Given the description of an element on the screen output the (x, y) to click on. 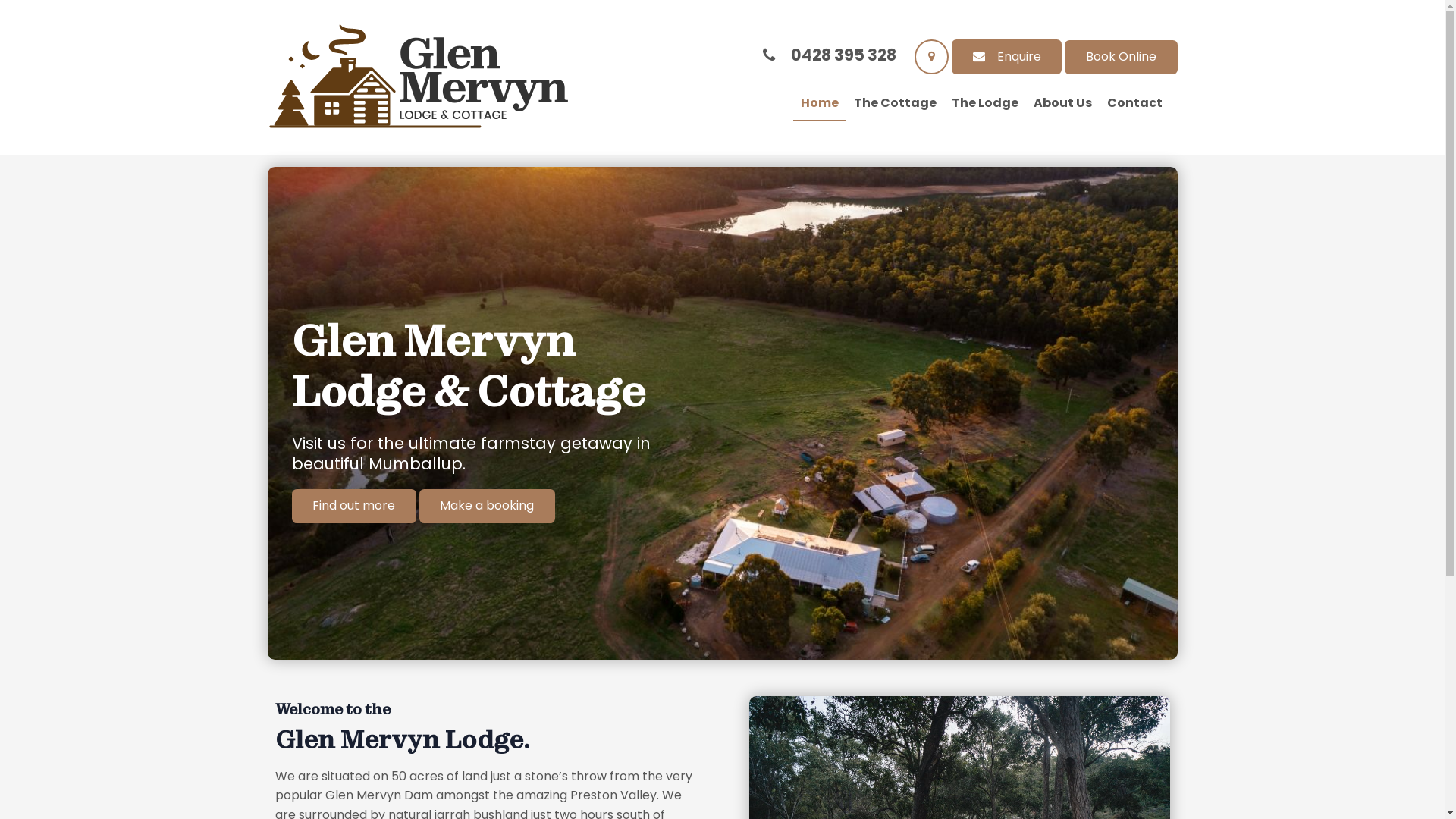
Home Element type: text (819, 103)
Enquire Element type: text (1006, 57)
About Us Element type: text (1061, 103)
The Lodge Element type: text (984, 103)
The Cottage Element type: text (895, 103)
Book Online Element type: text (1120, 57)
Find out more Element type: text (353, 506)
Make a booking Element type: text (487, 506)
Contact Element type: text (1134, 103)
